Given the description of an element on the screen output the (x, y) to click on. 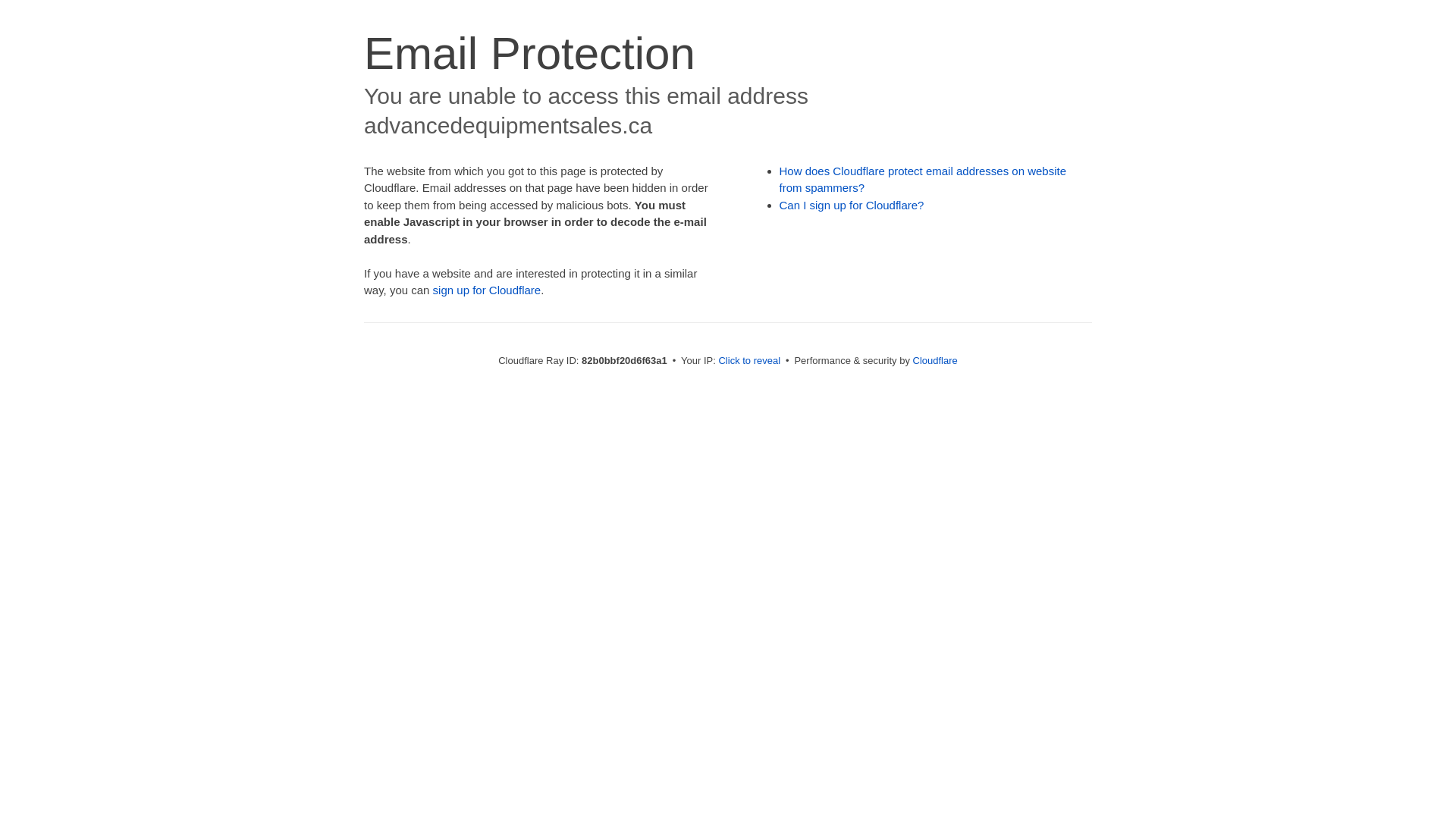
Can I sign up for Cloudflare? Element type: text (851, 204)
Click to reveal Element type: text (749, 360)
sign up for Cloudflare Element type: text (487, 289)
Cloudflare Element type: text (935, 360)
